Given the description of an element on the screen output the (x, y) to click on. 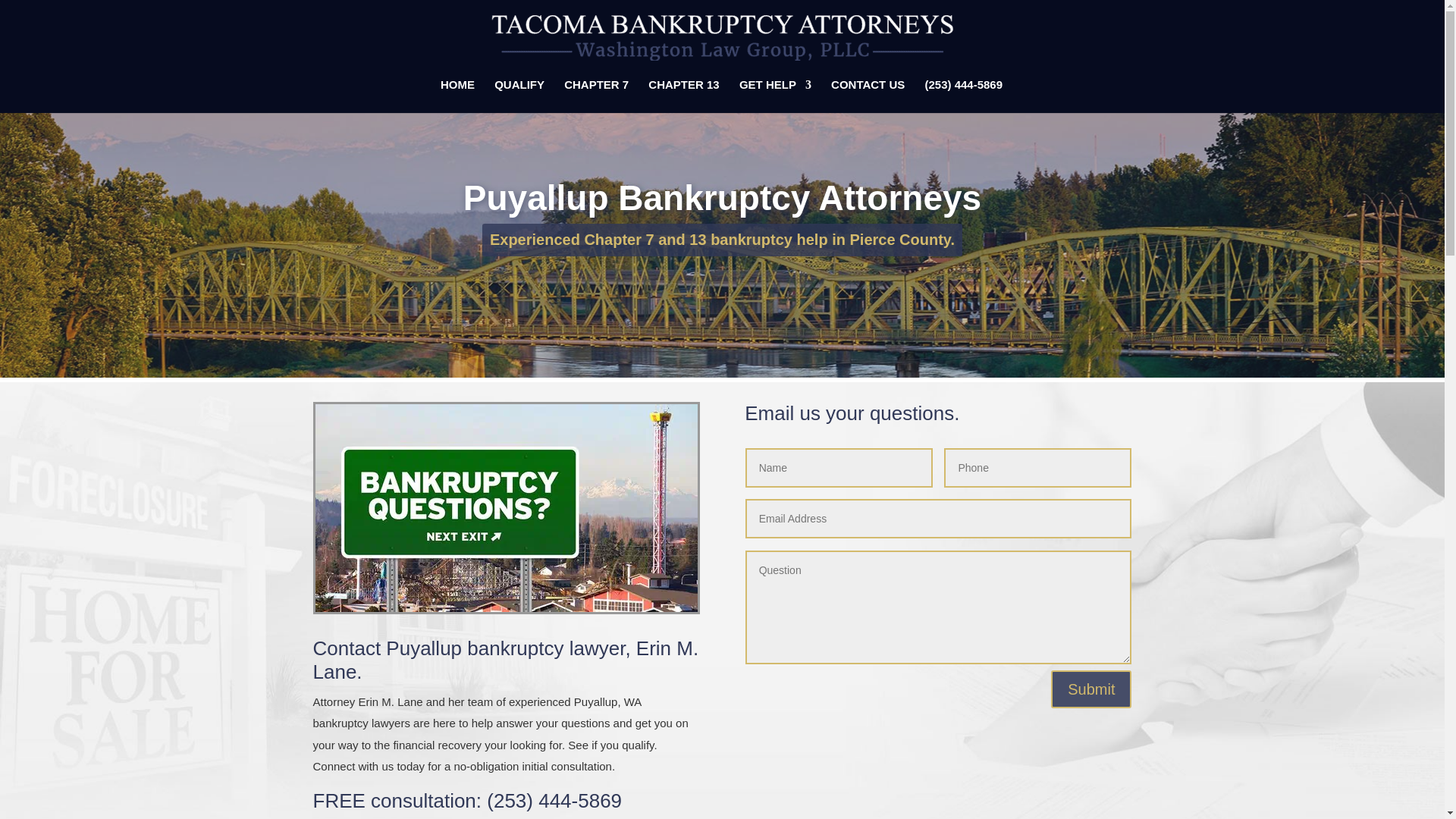
CHAPTER 7 (596, 96)
CONTACT US (867, 96)
CHAPTER 13 (683, 96)
GET HELP (774, 96)
QUALIFY (519, 96)
HOME (457, 96)
